Given the description of an element on the screen output the (x, y) to click on. 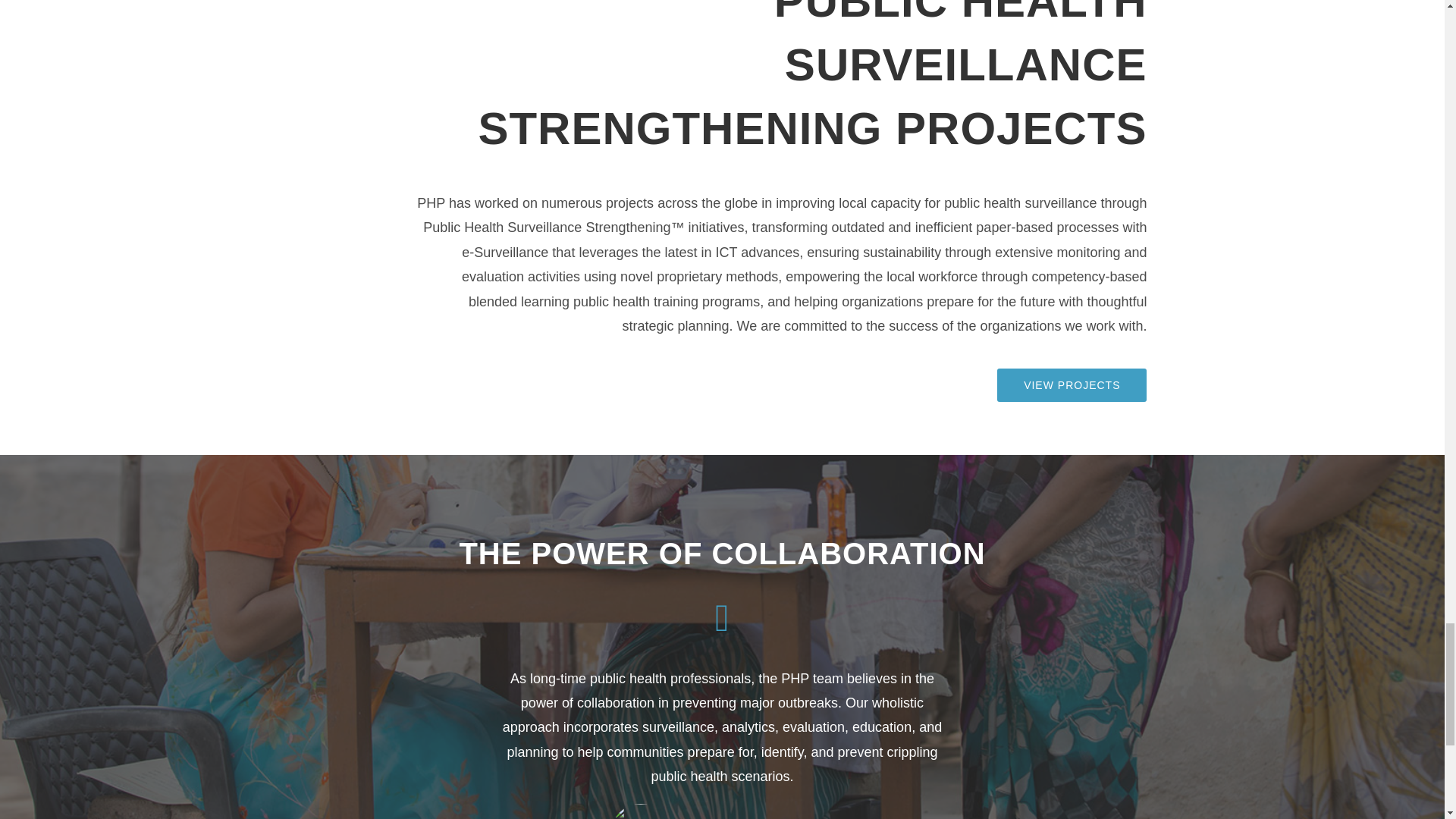
VIEW PROJECTS (1072, 385)
